Given the description of an element on the screen output the (x, y) to click on. 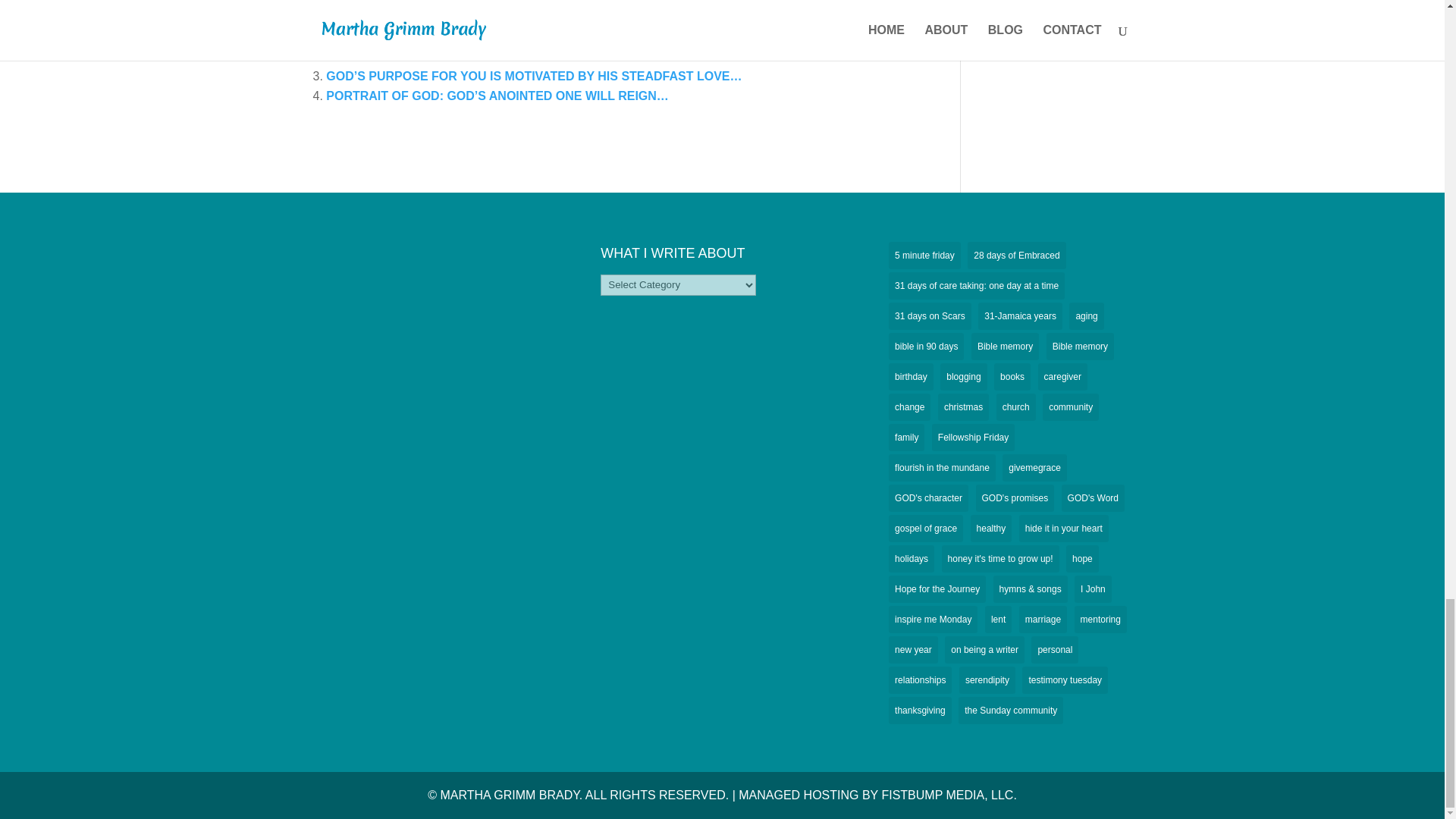
birthday (910, 376)
28 days of Embraced (1016, 255)
books (1012, 376)
31 days on Scars (929, 316)
aging (1085, 316)
31-Jamaica years (1020, 316)
Bible memory (1079, 346)
caregiver (1062, 376)
blogging (963, 376)
5 minute friday (924, 255)
